Given the description of an element on the screen output the (x, y) to click on. 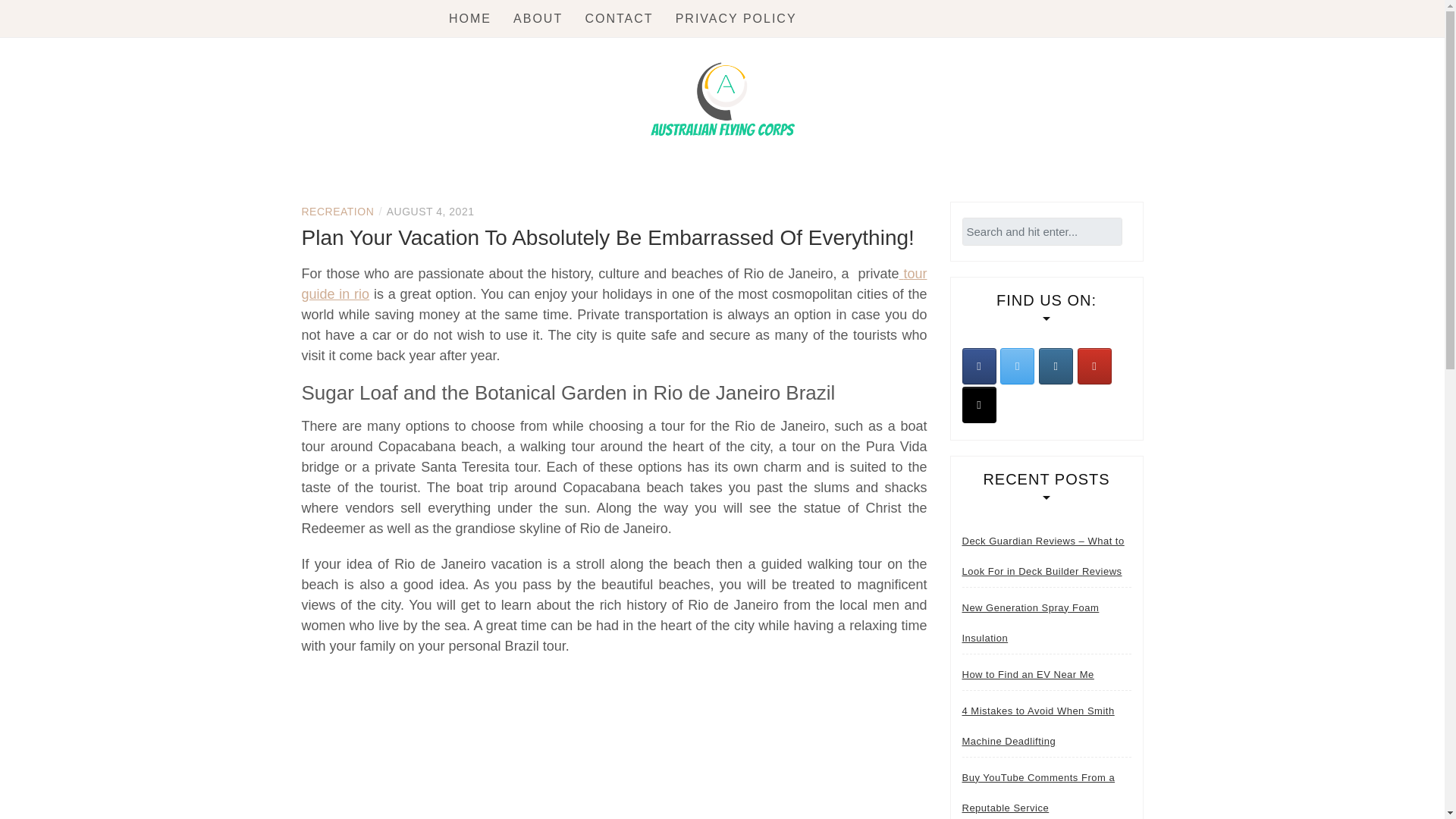
AUSTRALIAN FLYING CORPS (671, 187)
Australian Flying Corps on Tiktok (977, 404)
New Generation Spray Foam Insulation (1045, 622)
Australian Flying Corps on X Twitter (1016, 366)
RECREATION (337, 211)
CONTACT (618, 18)
Buy YouTube Comments From a Reputable Service (1045, 790)
How to Find an EV Near Me (1026, 675)
Australian Flying Corps on Instagram (1056, 366)
Australian Flying Corps on Facebook (977, 366)
4 Mistakes to Avoid When Smith Machine Deadlifting (1045, 726)
Australian Flying Corps on Youtube (1094, 366)
tour guide in rio (614, 284)
PRIVACY POLICY (735, 18)
HOME (470, 18)
